Given the description of an element on the screen output the (x, y) to click on. 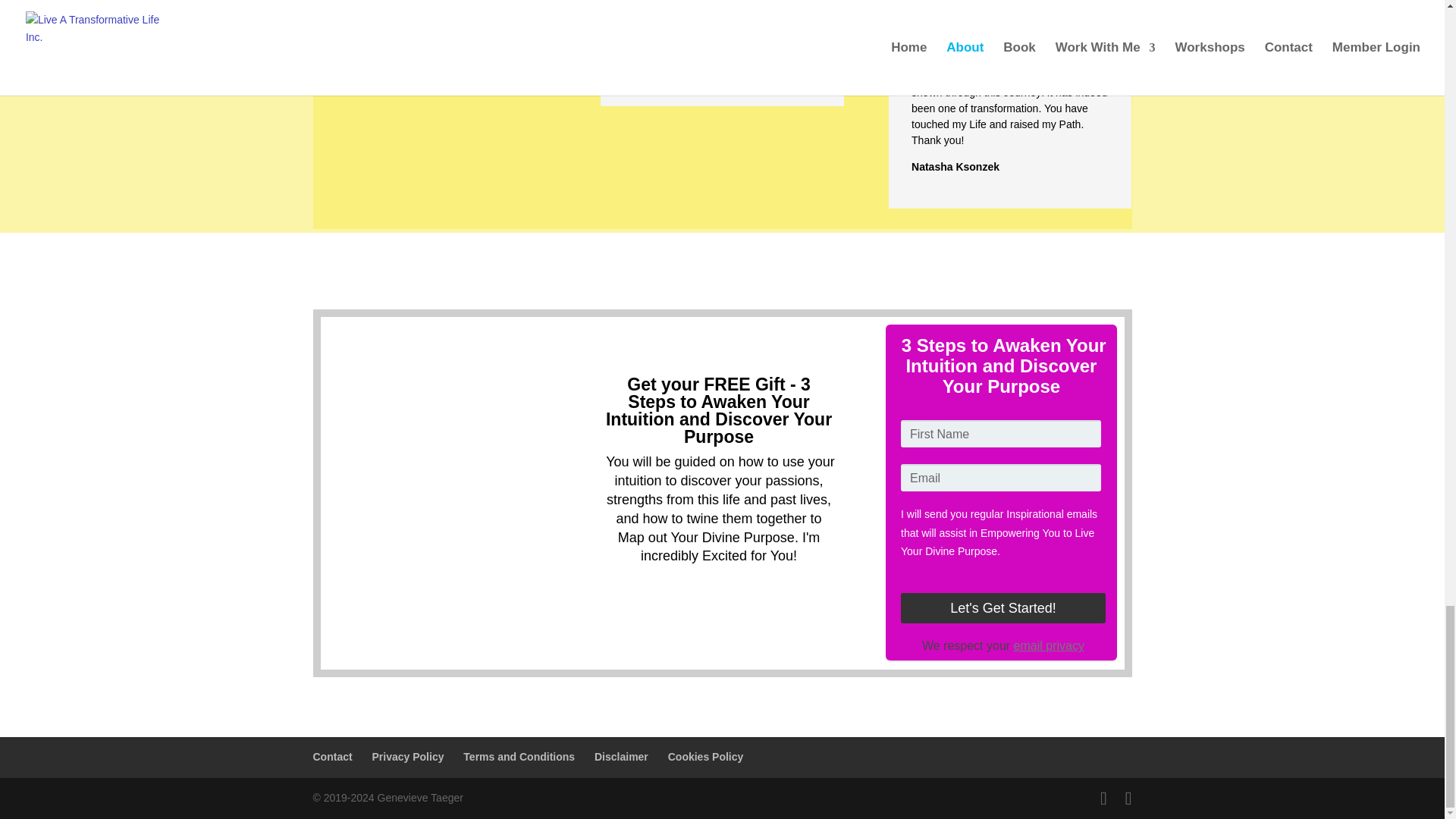
Email (1000, 477)
Cookies Policy (706, 756)
Let's Get Started! (1003, 607)
Let's Get Started! (1003, 607)
Terms and Conditions (519, 756)
Privacy Policy (408, 756)
First Name (1000, 433)
Contact (332, 756)
email privacy (1048, 645)
Privacy Policy (1048, 645)
